Given the description of an element on the screen output the (x, y) to click on. 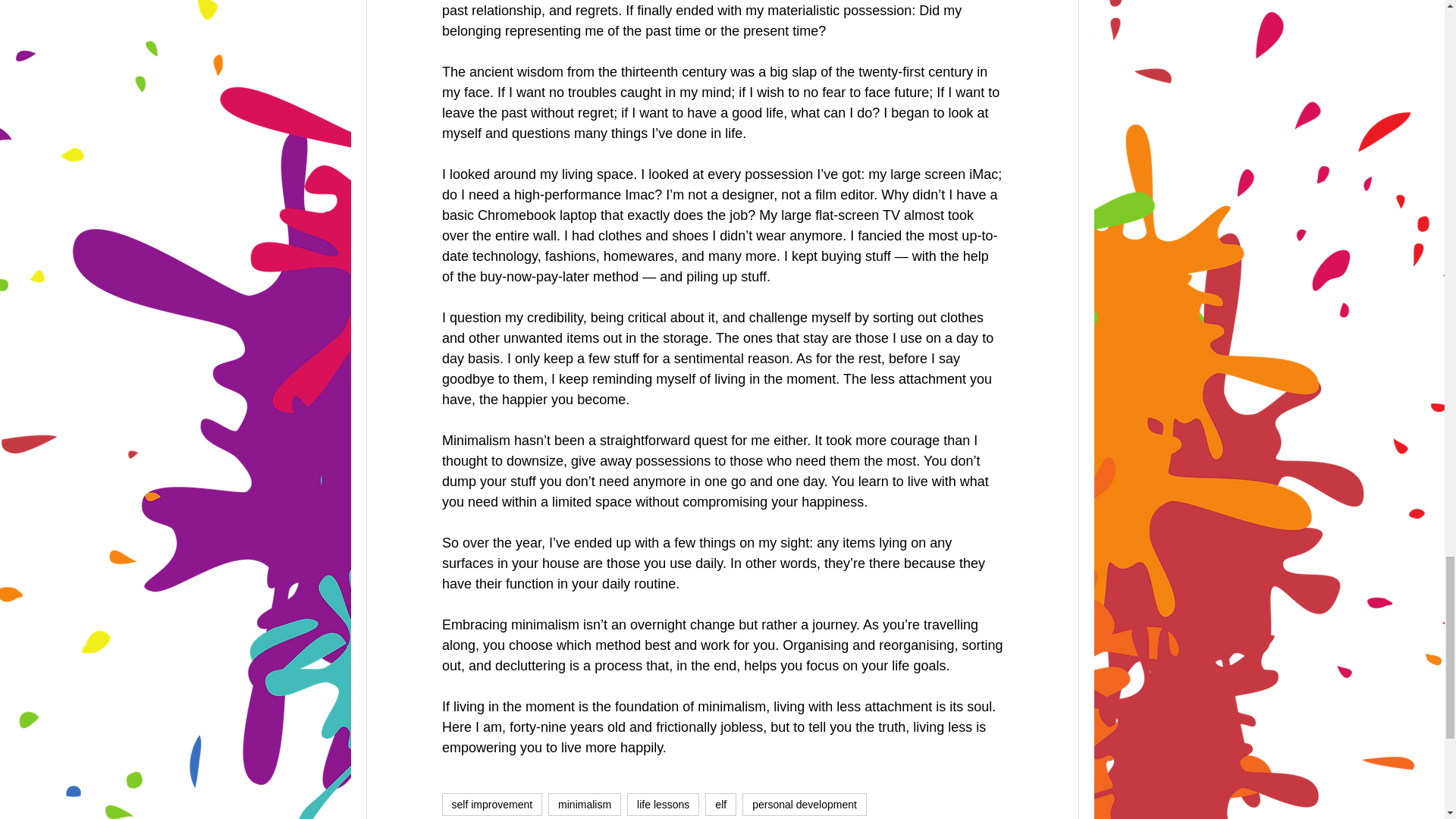
self improvement (491, 804)
personal development (804, 804)
elf (720, 804)
life lessons (662, 804)
minimalism (584, 804)
